Given the description of an element on the screen output the (x, y) to click on. 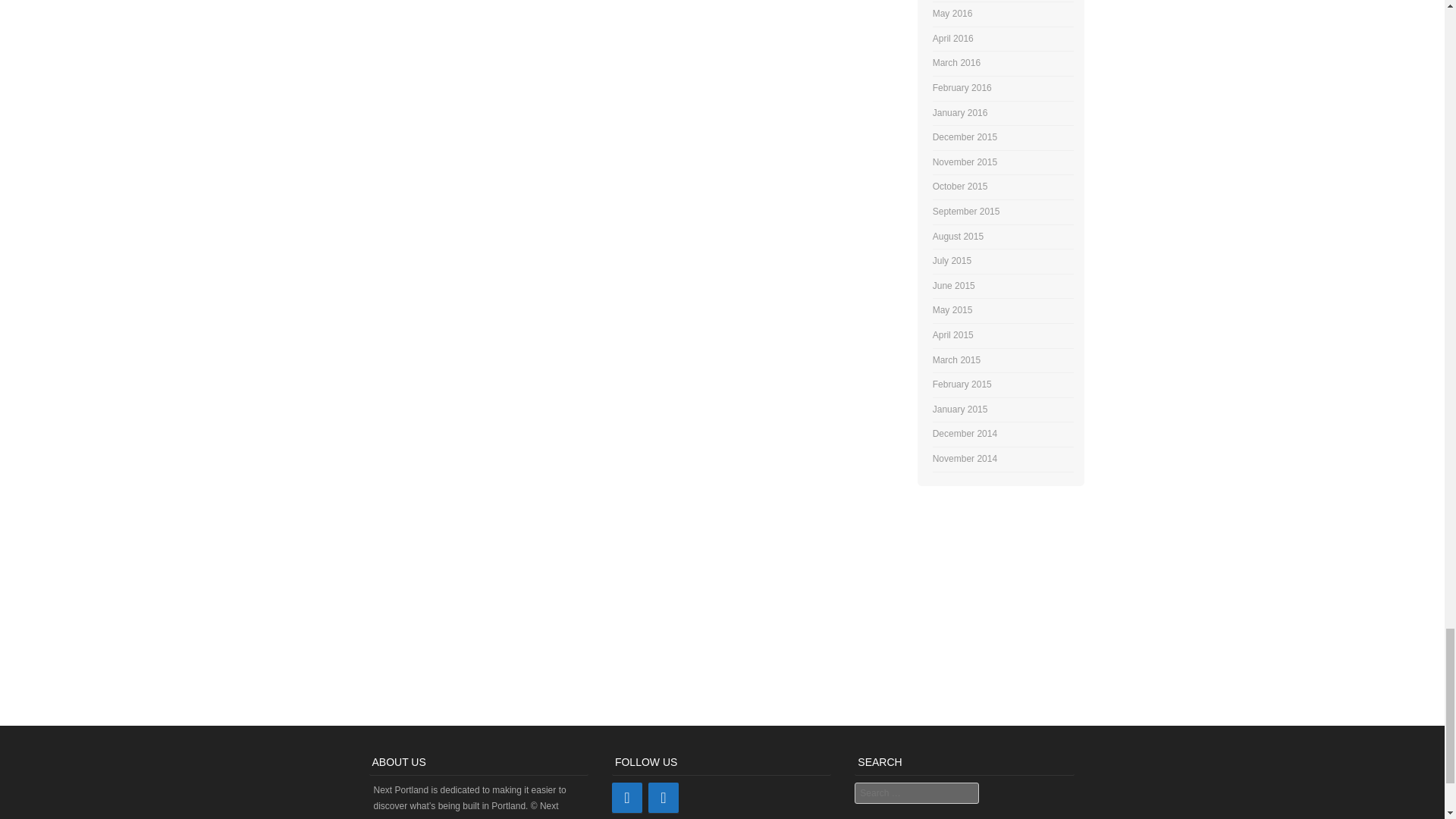
Twitter (626, 797)
Facebook (662, 797)
